Given the description of an element on the screen output the (x, y) to click on. 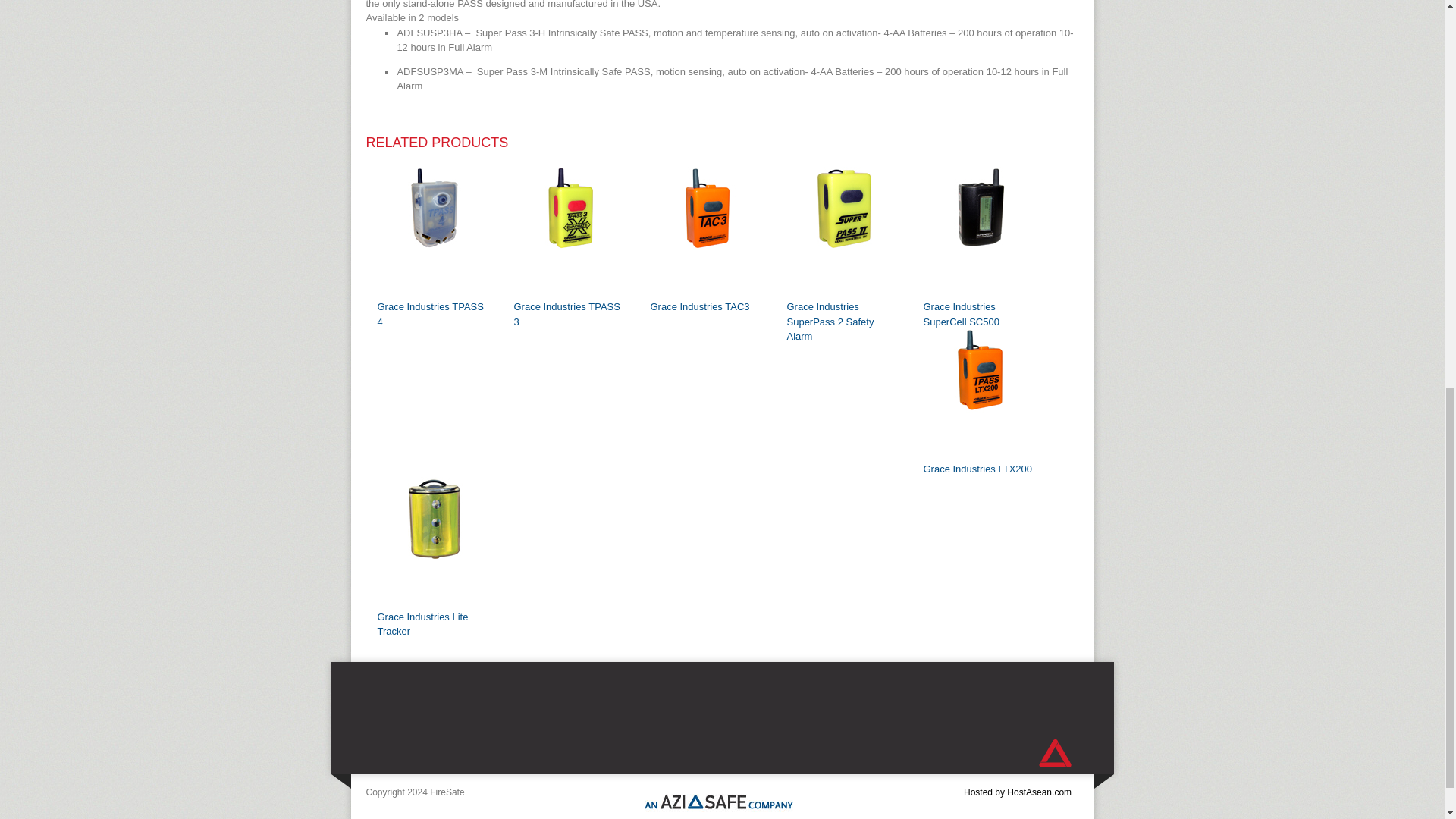
Hosted by HostAsean.com (1017, 791)
Grace Industries TPASS 3 (566, 314)
Grace Industries TPASS 4 (430, 314)
Website Hosting in Cambodia by HostAsean.com (1017, 791)
Grace Industries LTX200 (977, 469)
Grace Industries SuperPass 2 Safety Alarm (831, 321)
Grace Industries TAC3 (699, 306)
Grace Industries Lite Tracker (422, 623)
Grace Industries SuperCell SC500 (960, 314)
